Given the description of an element on the screen output the (x, y) to click on. 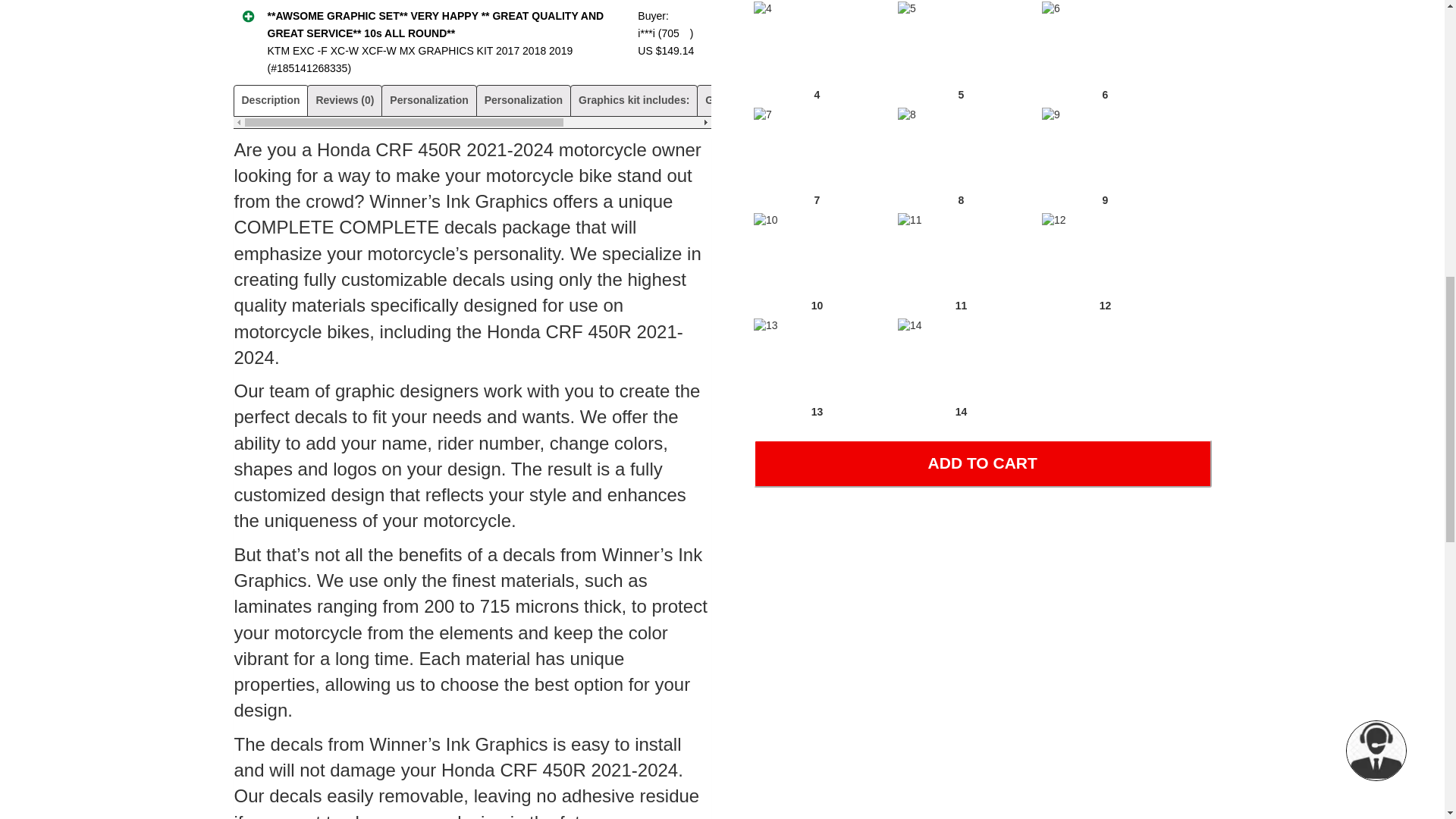
Graphics kit includes: (633, 100)
Description (270, 100)
Personalization (523, 100)
Personalization (428, 100)
NOTE (846, 100)
Graphics kit includes: (759, 100)
ADD TO CART (982, 463)
NOTE (892, 100)
